Given the description of an element on the screen output the (x, y) to click on. 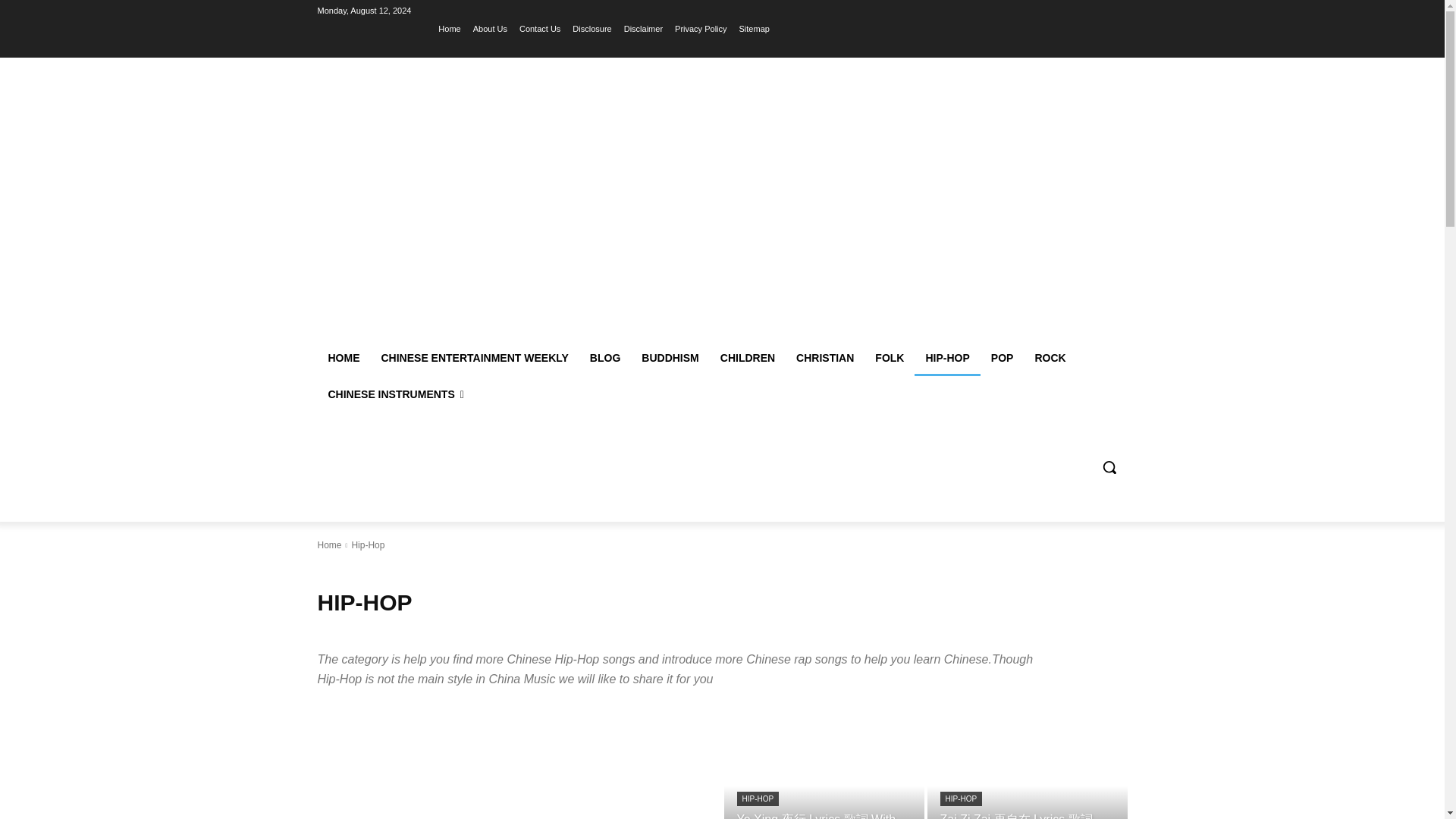
POP (1002, 357)
Disclosure (591, 28)
ROCK (1049, 357)
BLOG (604, 357)
About Us (489, 28)
BUDDHISM (669, 357)
CHINESE ENTERTAINMENT WEEKLY (473, 357)
CHILDREN (748, 357)
Sitemap (754, 28)
Privacy Policy (700, 28)
